Given the description of an element on the screen output the (x, y) to click on. 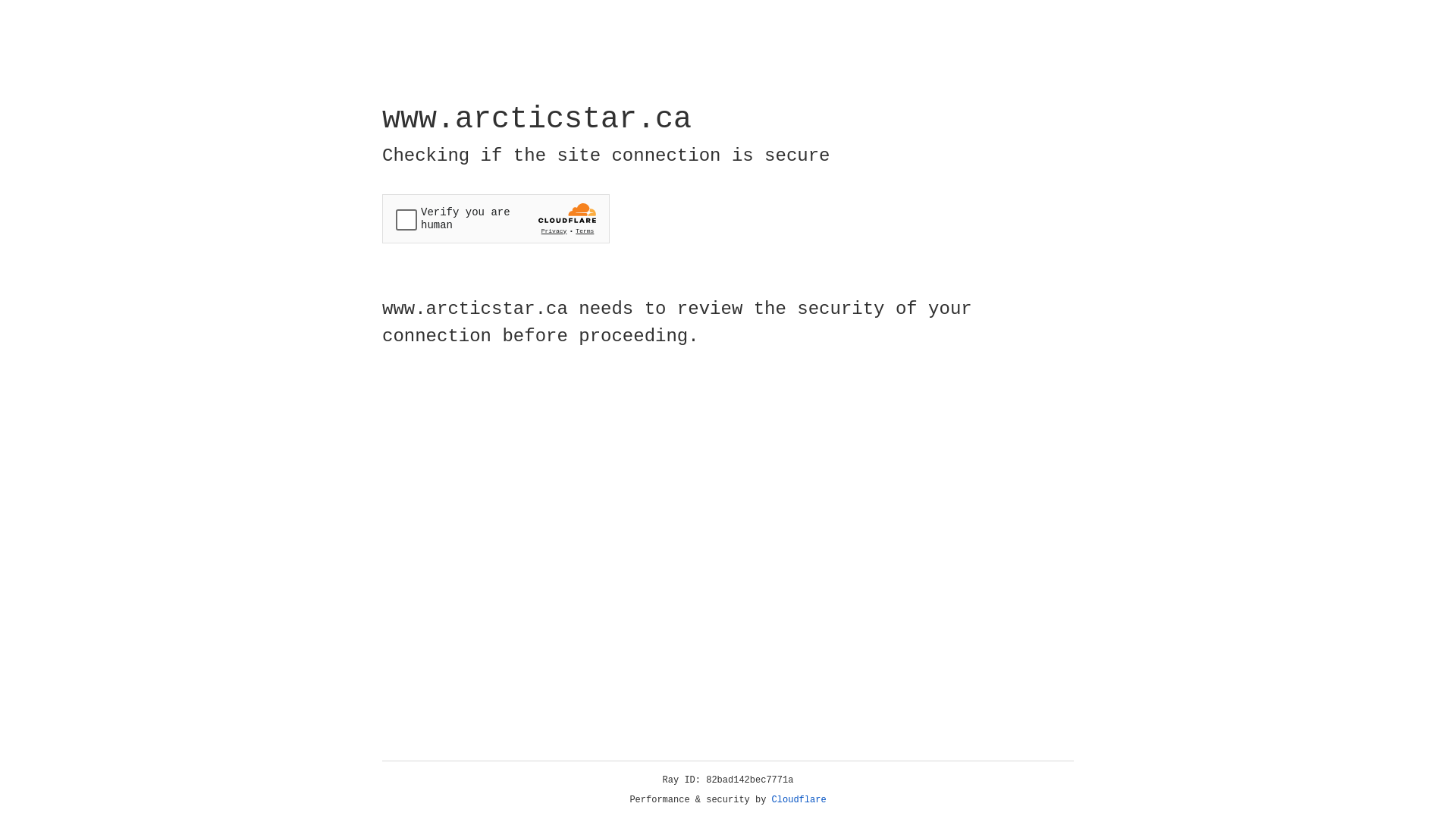
Cloudflare Element type: text (798, 799)
Widget containing a Cloudflare security challenge Element type: hover (495, 218)
